Given the description of an element on the screen output the (x, y) to click on. 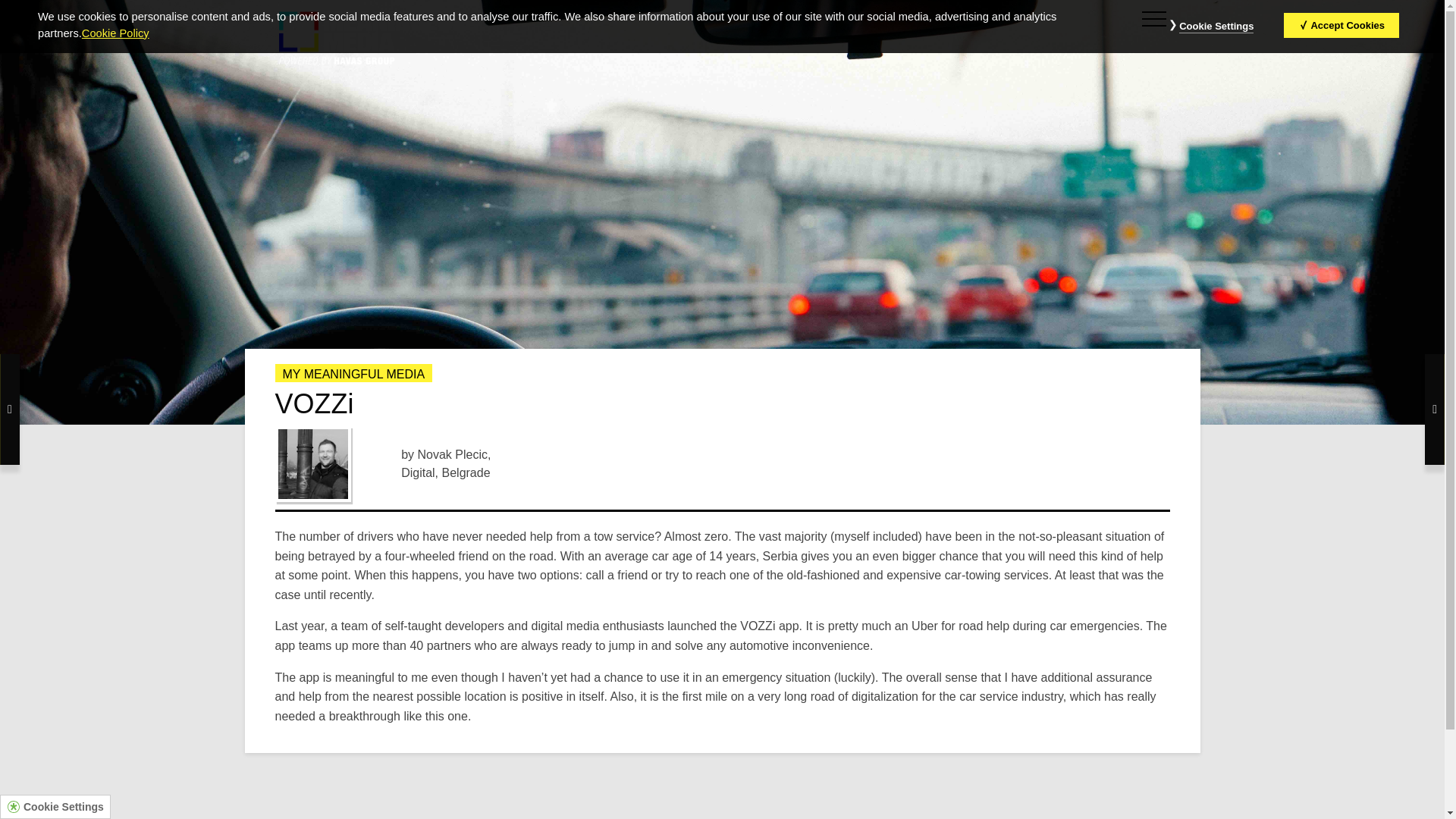
Accept Cookies (1341, 25)
Accept Cookies (1341, 25)
Cookie Settings (63, 806)
Cookie Policy (115, 33)
Cookie Settings (1216, 26)
Cookie Settings (1216, 26)
